Given the description of an element on the screen output the (x, y) to click on. 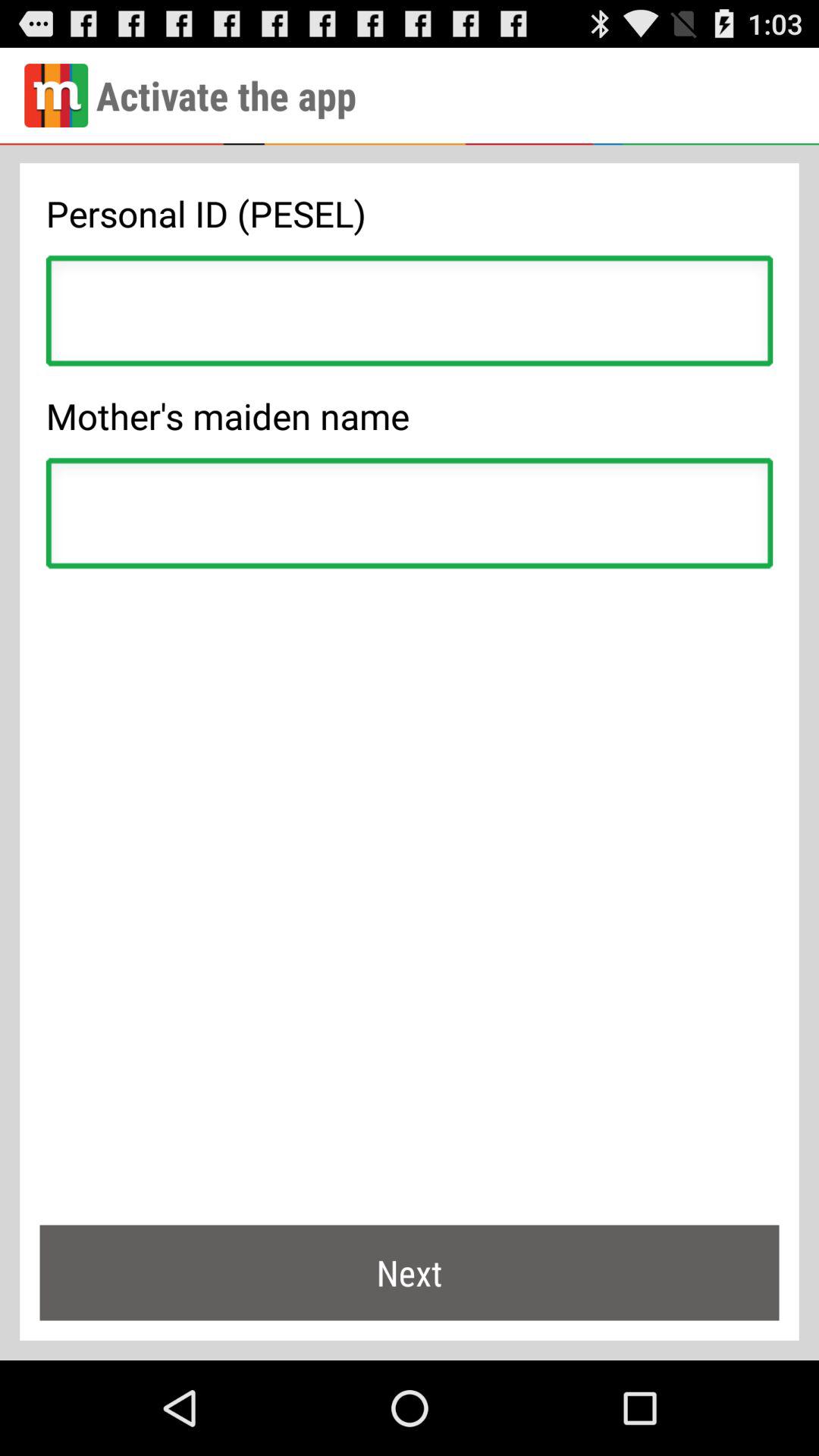
enter name (409, 516)
